Given the description of an element on the screen output the (x, y) to click on. 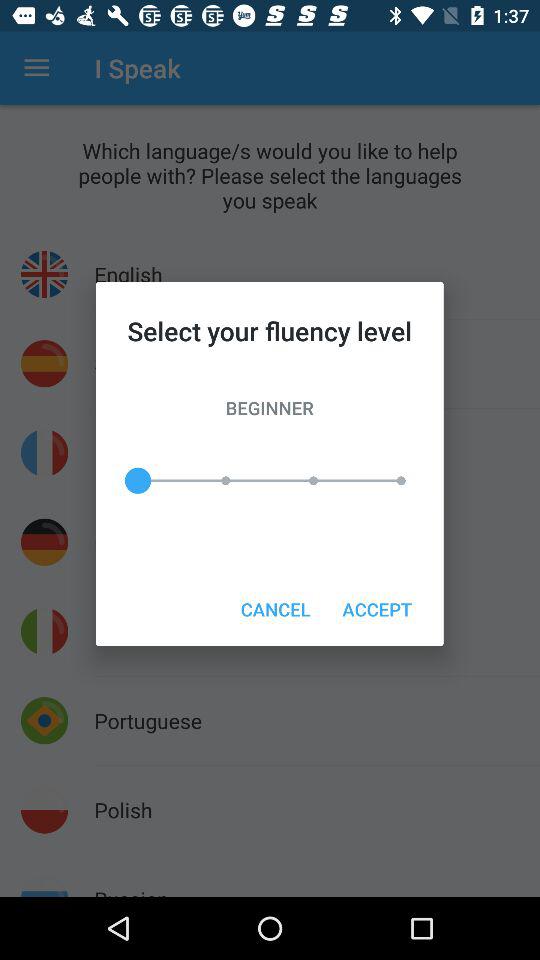
scroll to the cancel item (275, 608)
